Given the description of an element on the screen output the (x, y) to click on. 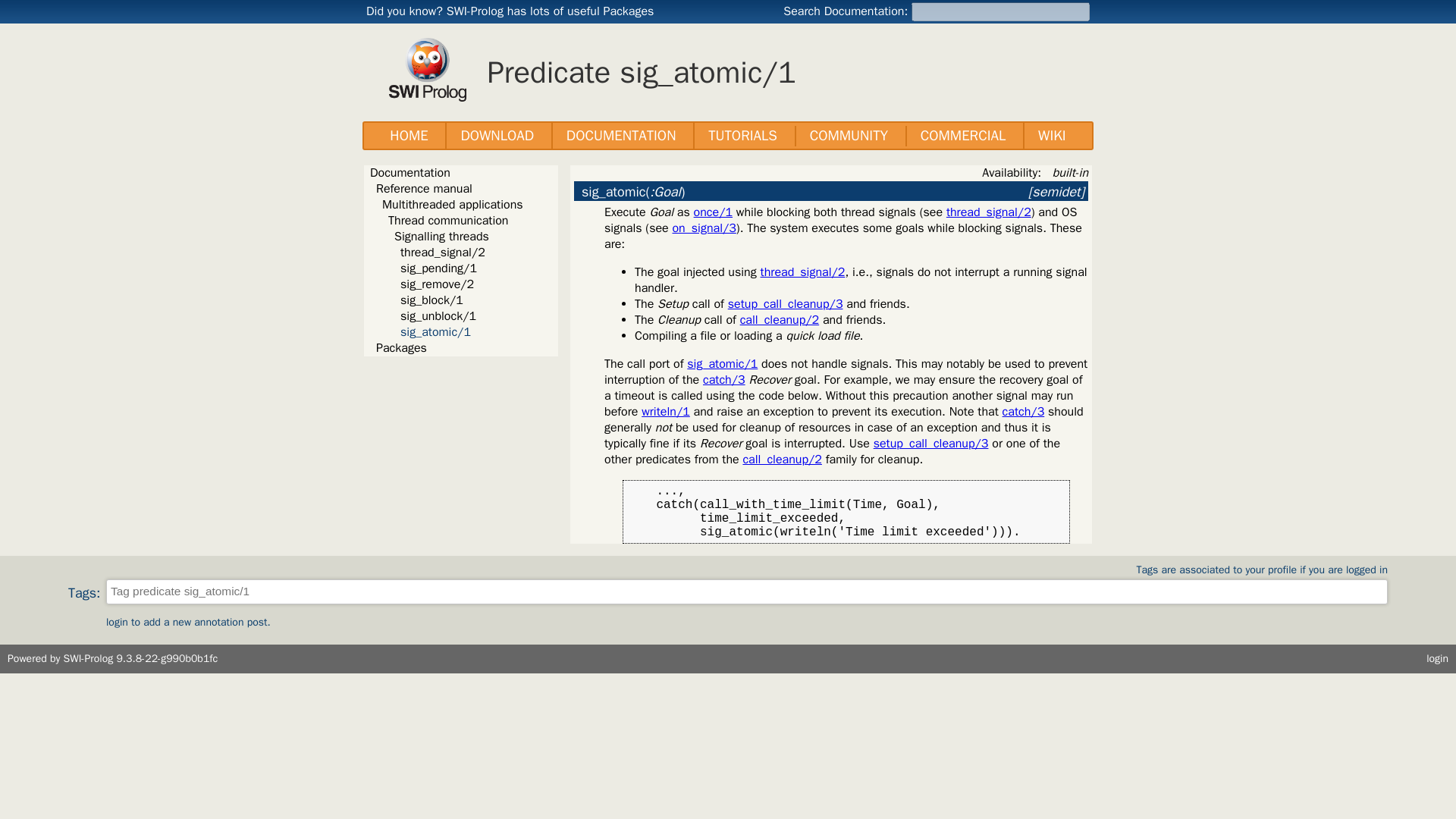
SWI-Prolog owl logo (426, 69)
HOME (409, 136)
SWI-Prolog has lots of useful Packages (549, 11)
